Given the description of an element on the screen output the (x, y) to click on. 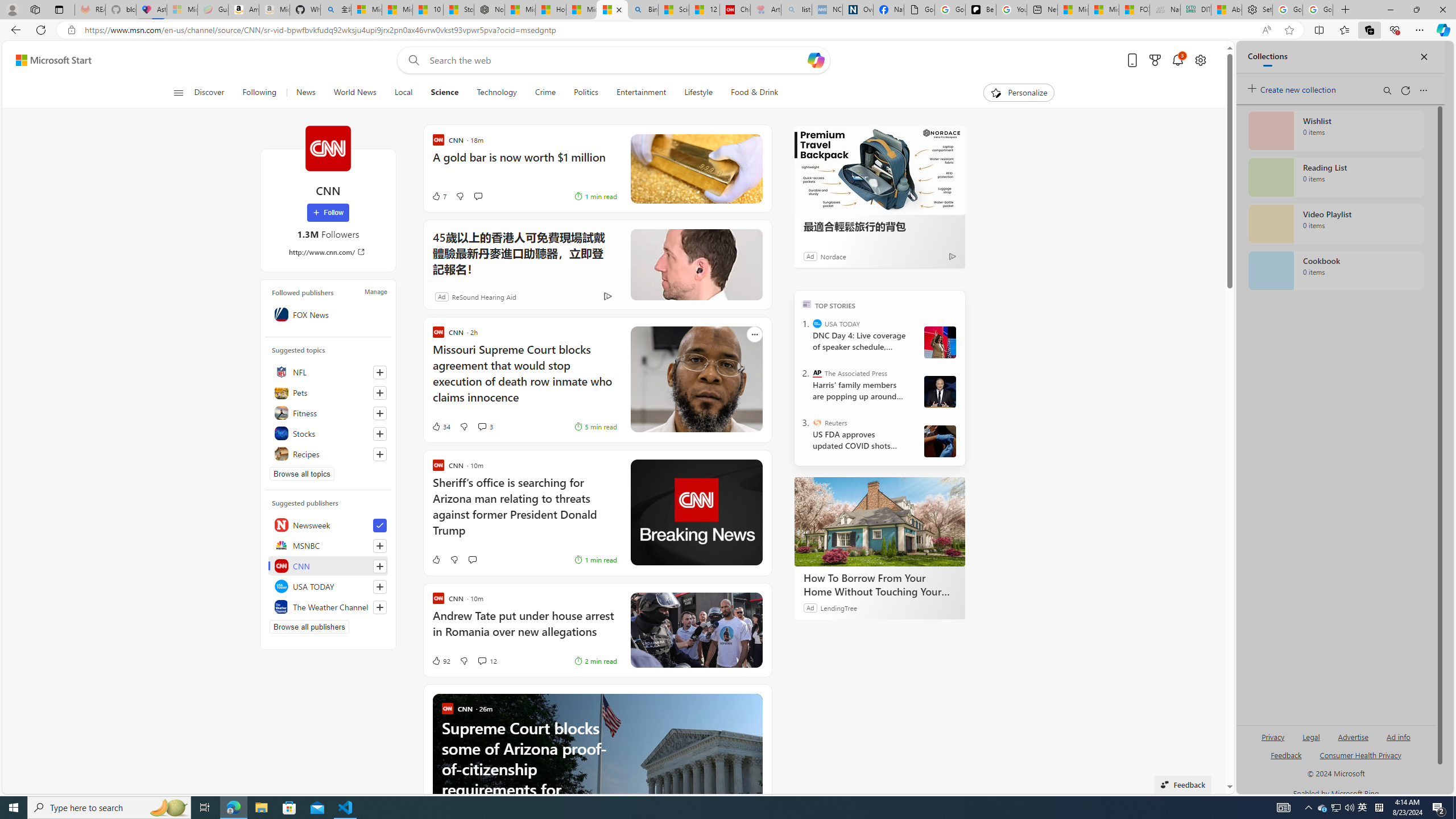
US FDA approves updated COVID shots ahead of fall and winter (859, 440)
http://www.cnn.com/ (327, 251)
The Weather Channel (327, 606)
Recipes (327, 453)
Aberdeen, Hong Kong SAR hourly forecast | Microsoft Weather (1226, 9)
